Given the description of an element on the screen output the (x, y) to click on. 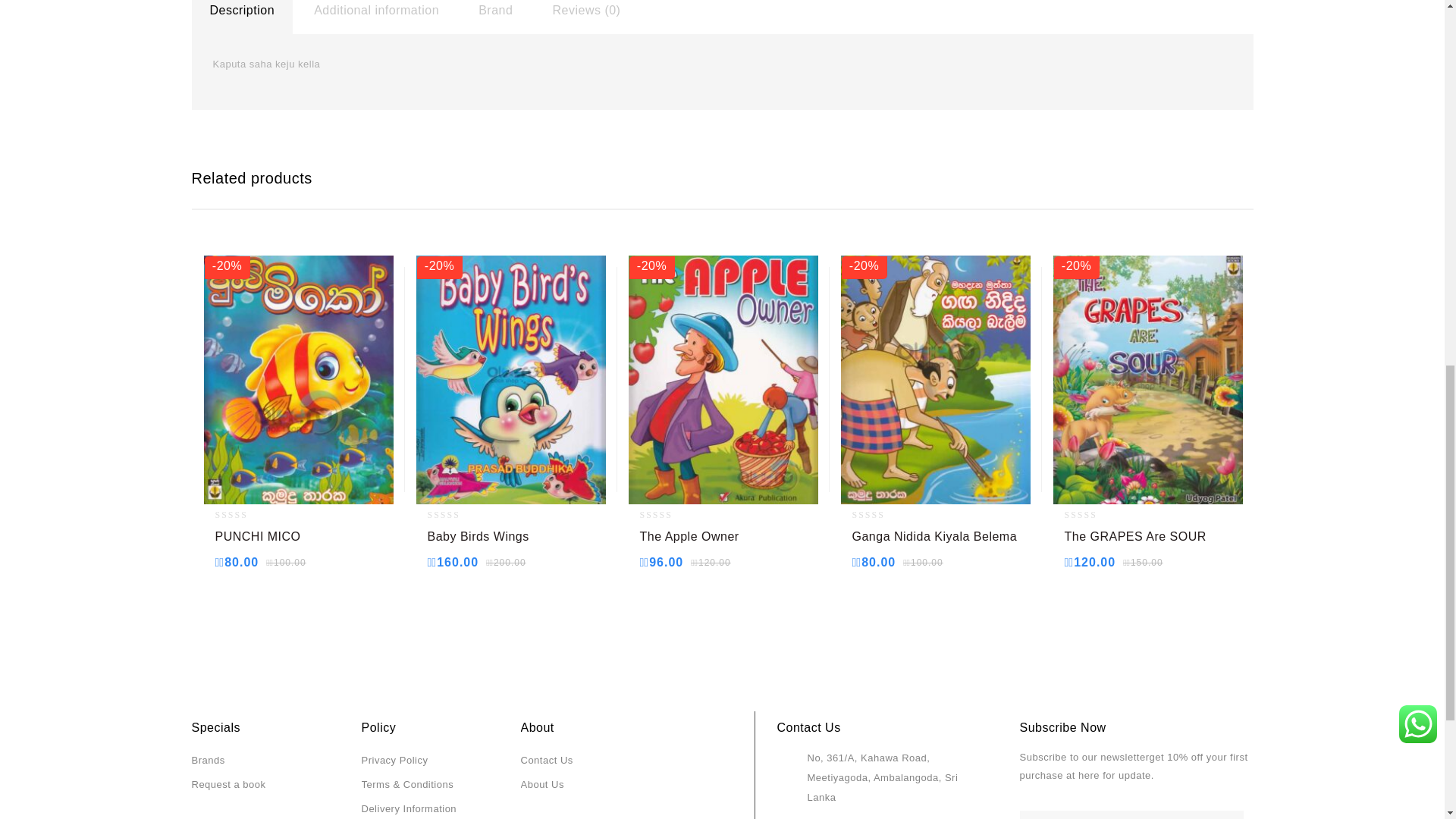
Not yet rated (881, 514)
Not yet rated (244, 514)
Not yet rated (669, 514)
Not yet rated (1093, 514)
Not yet rated (457, 514)
